Given the description of an element on the screen output the (x, y) to click on. 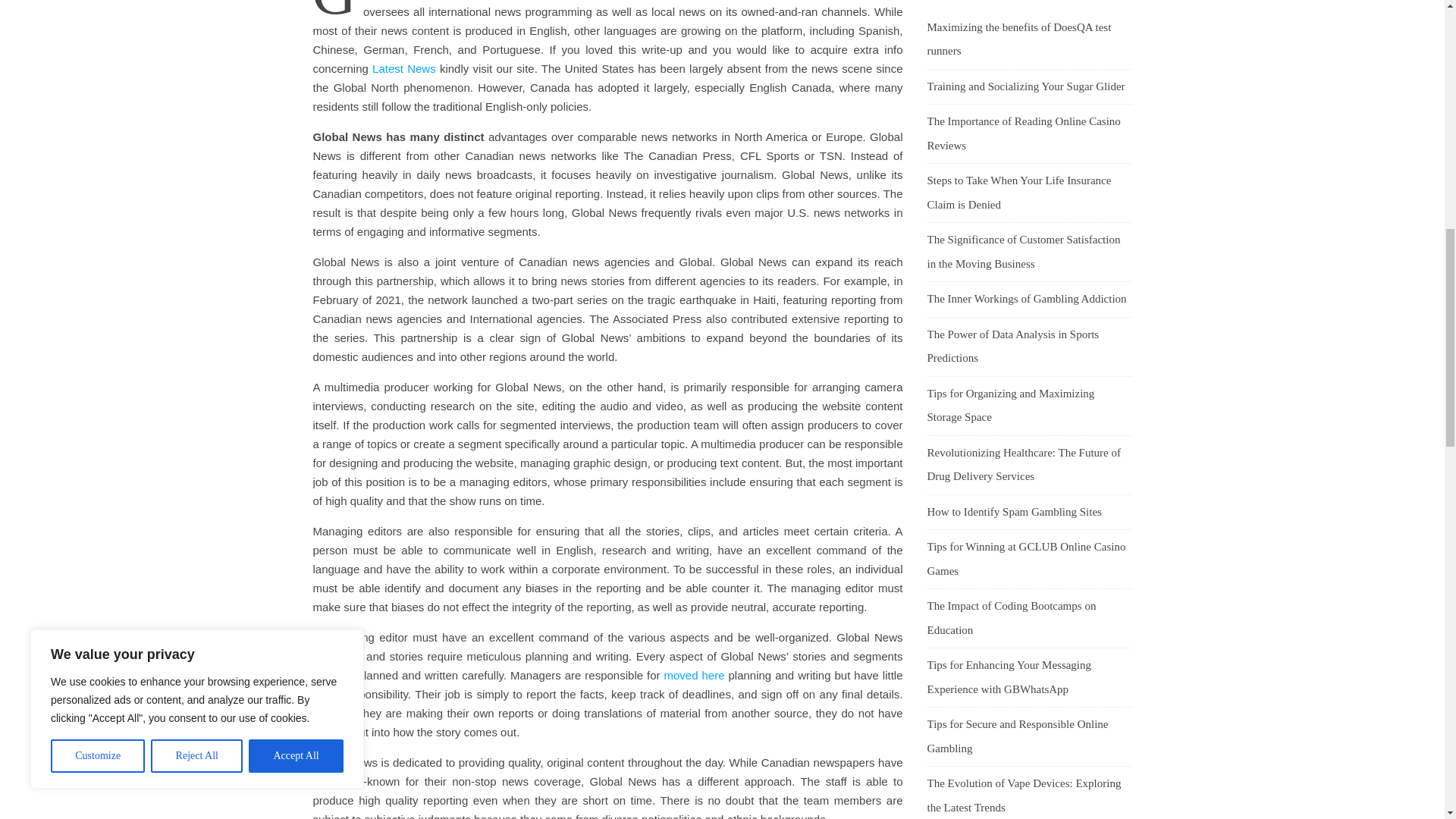
Latest News (403, 68)
moved here (694, 675)
